Given the description of an element on the screen output the (x, y) to click on. 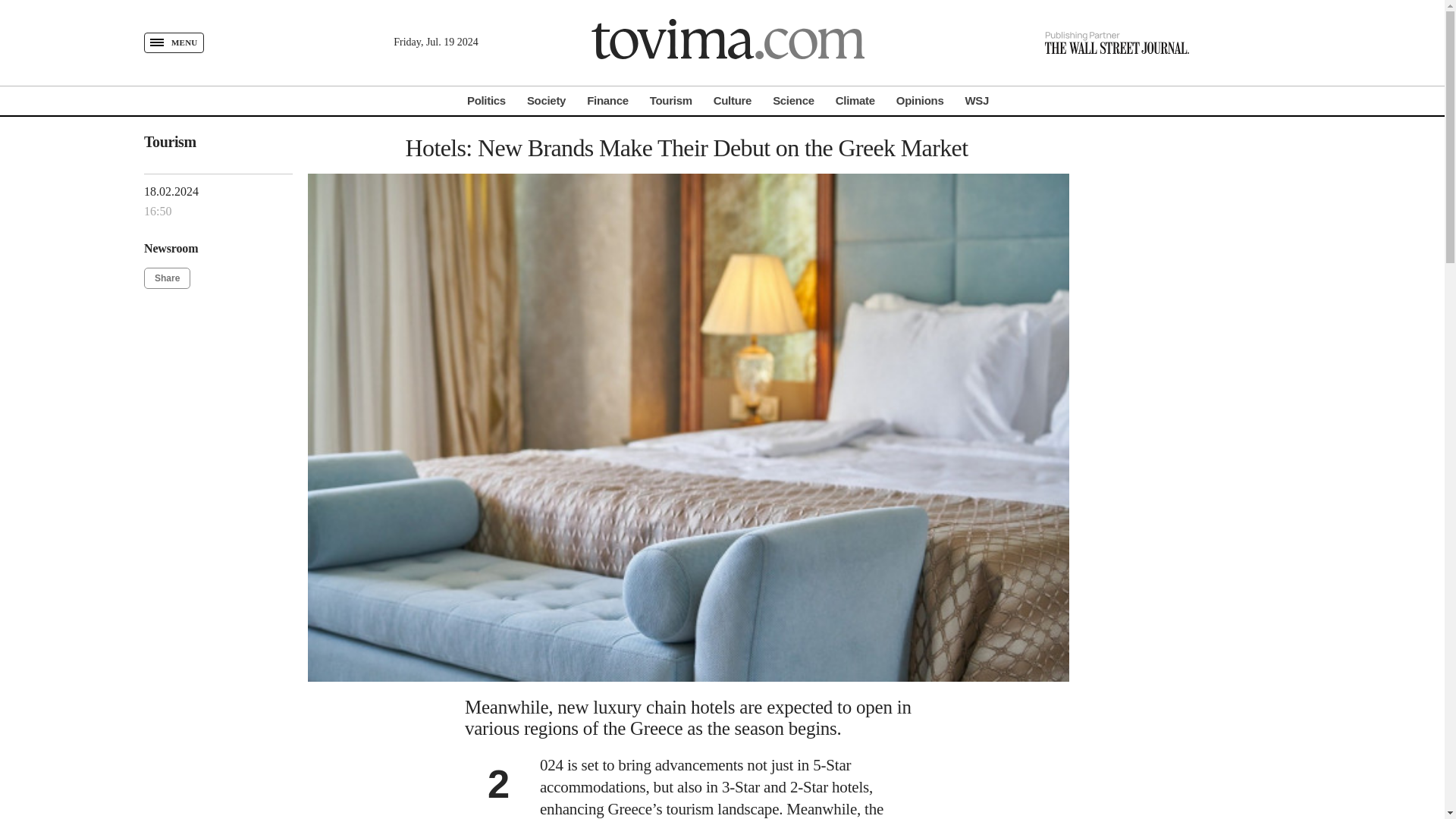
WSJ (975, 100)
Finance (607, 100)
Society (546, 100)
Science (793, 100)
Climate (855, 100)
Culture (732, 100)
Tourism (671, 100)
Politics (486, 100)
Opinions (919, 100)
Tourism (170, 141)
tovima.com (727, 42)
